Given the description of an element on the screen output the (x, y) to click on. 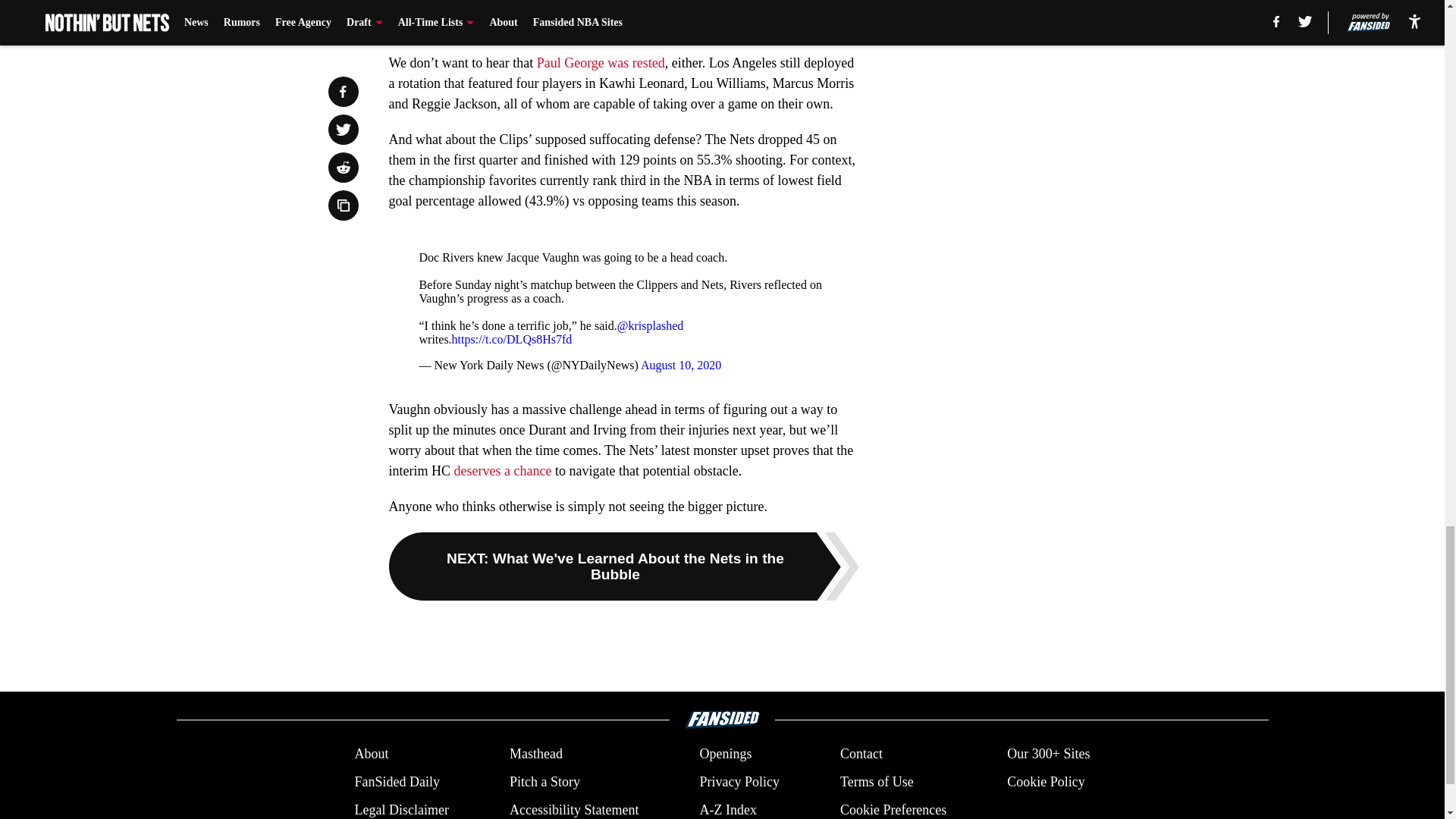
Paul George was rested (601, 62)
Contact (861, 753)
deserves a chance (501, 470)
FanSided Daily (396, 782)
Masthead (535, 753)
August 10, 2020 (680, 364)
About (370, 753)
Openings (724, 753)
NEXT: What We've Learned About the Nets in the Bubble (623, 566)
Pitch a Story (544, 782)
